Given the description of an element on the screen output the (x, y) to click on. 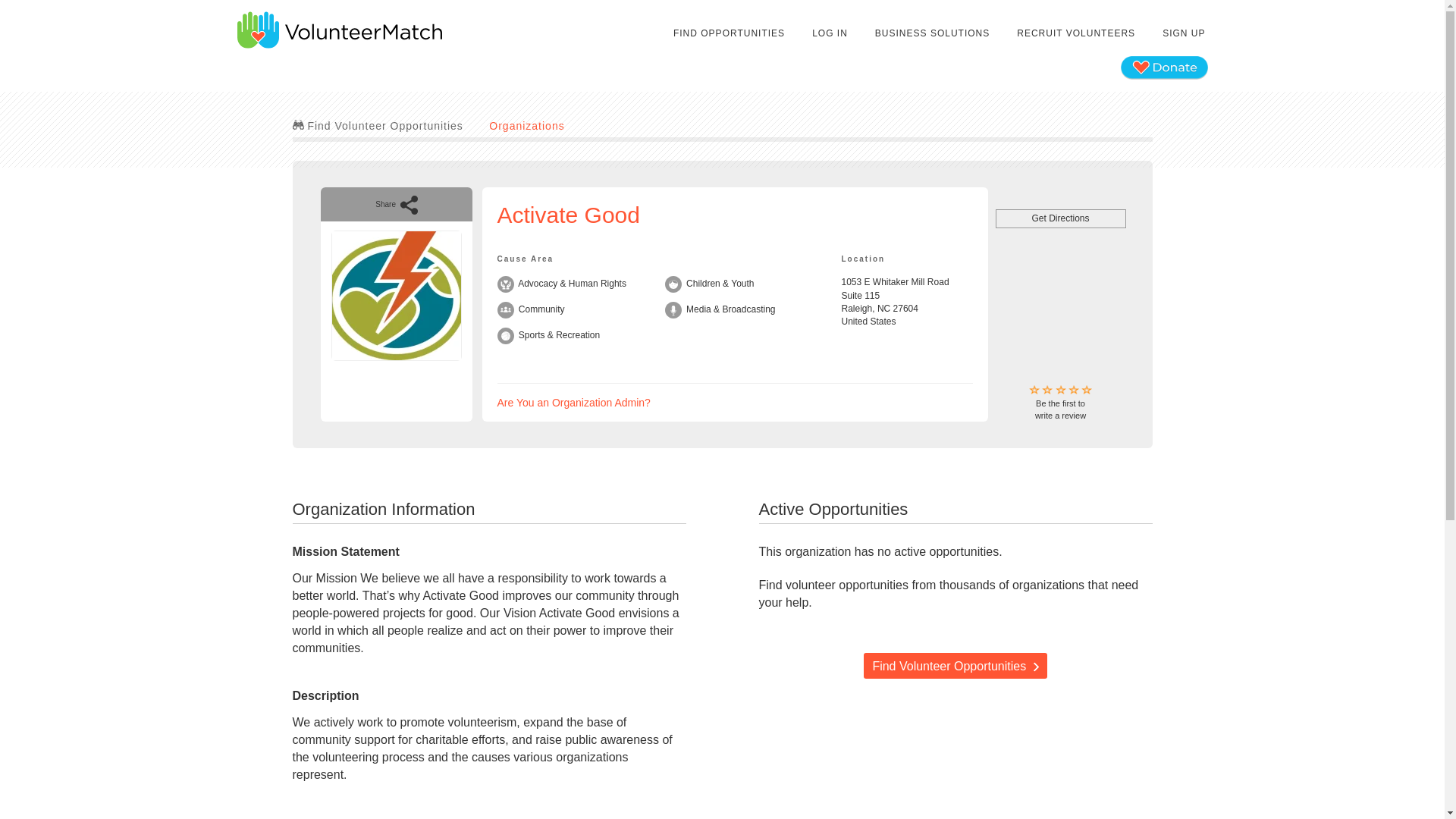
LOG IN (829, 32)
Organizations (526, 125)
Find Volunteer Opportunities (377, 125)
SIGN UP (1183, 32)
Get Directions (573, 402)
Find Volunteer Opportunities (1059, 403)
BUSINESS SOLUTIONS (1059, 218)
FIND OPPORTUNITIES (954, 665)
RECRUIT VOLUNTEERS (931, 32)
Opens a widget where you can find more information (729, 32)
